Given the description of an element on the screen output the (x, y) to click on. 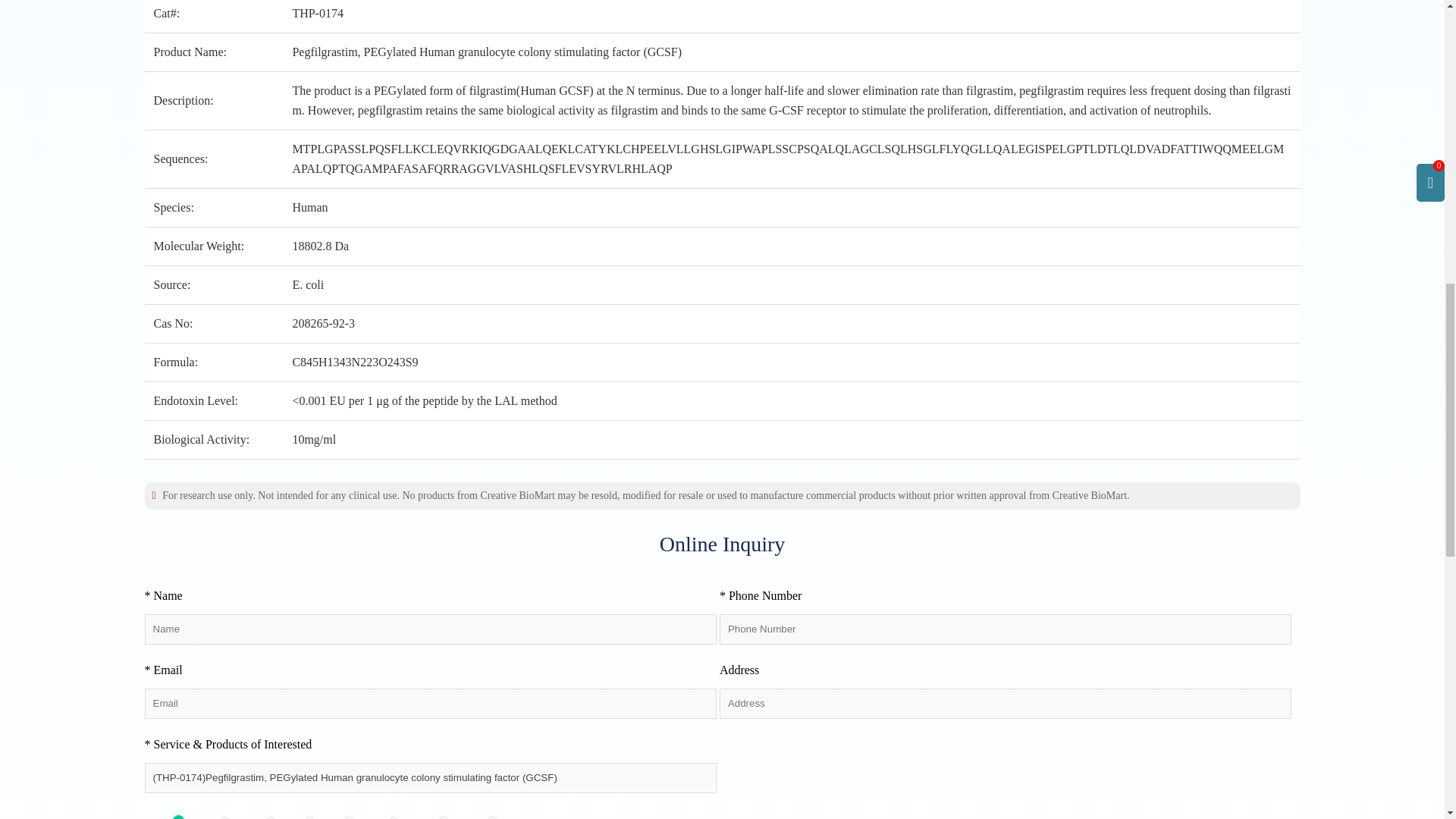
100ug (177, 816)
